Given the description of an element on the screen output the (x, y) to click on. 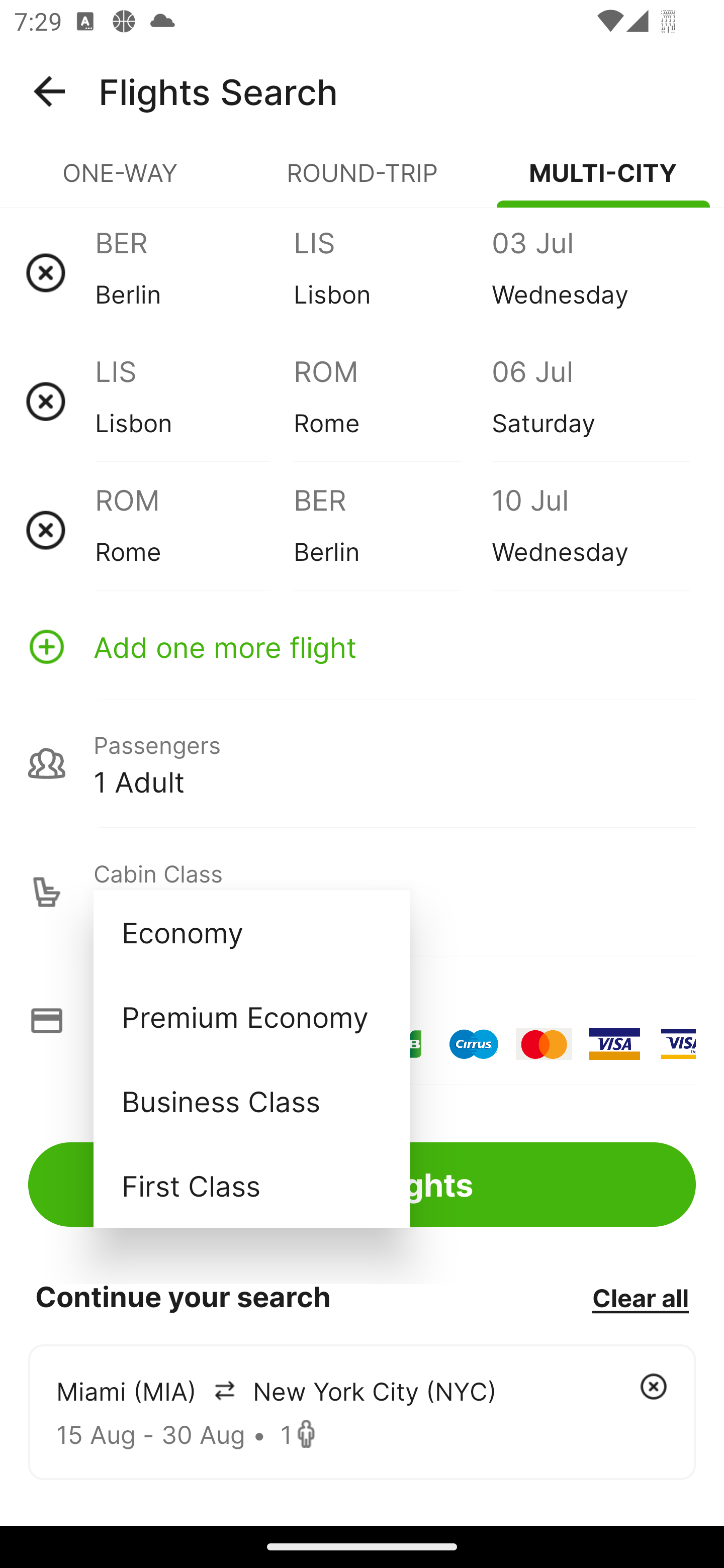
Economy (251, 931)
Premium Economy (251, 1015)
Business Class (251, 1100)
First Class (251, 1185)
